Given the description of an element on the screen output the (x, y) to click on. 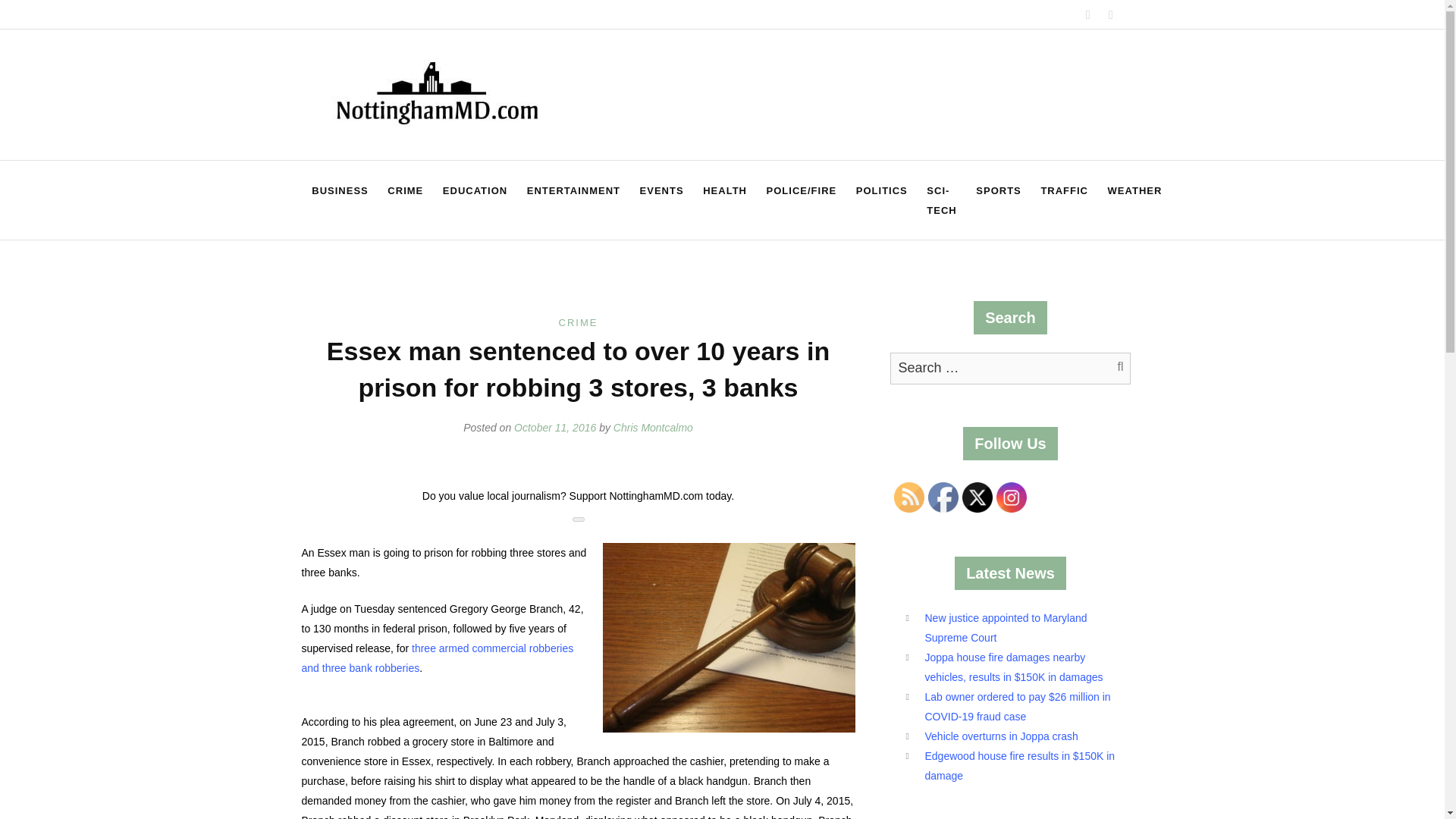
Traffic (1063, 189)
three armed commercial robberies and three bank robberies (437, 658)
October 11, 2016 (554, 427)
Chris Montcalmo (652, 427)
EVENTS (662, 189)
TRAFFIC (1063, 189)
Weather (1134, 189)
POLITICS (881, 189)
Search (1112, 367)
WEATHER (1134, 189)
Events (662, 189)
Politics (881, 189)
BUSINESS (339, 189)
Entertainment (573, 189)
EDUCATION (474, 189)
